Given the description of an element on the screen output the (x, y) to click on. 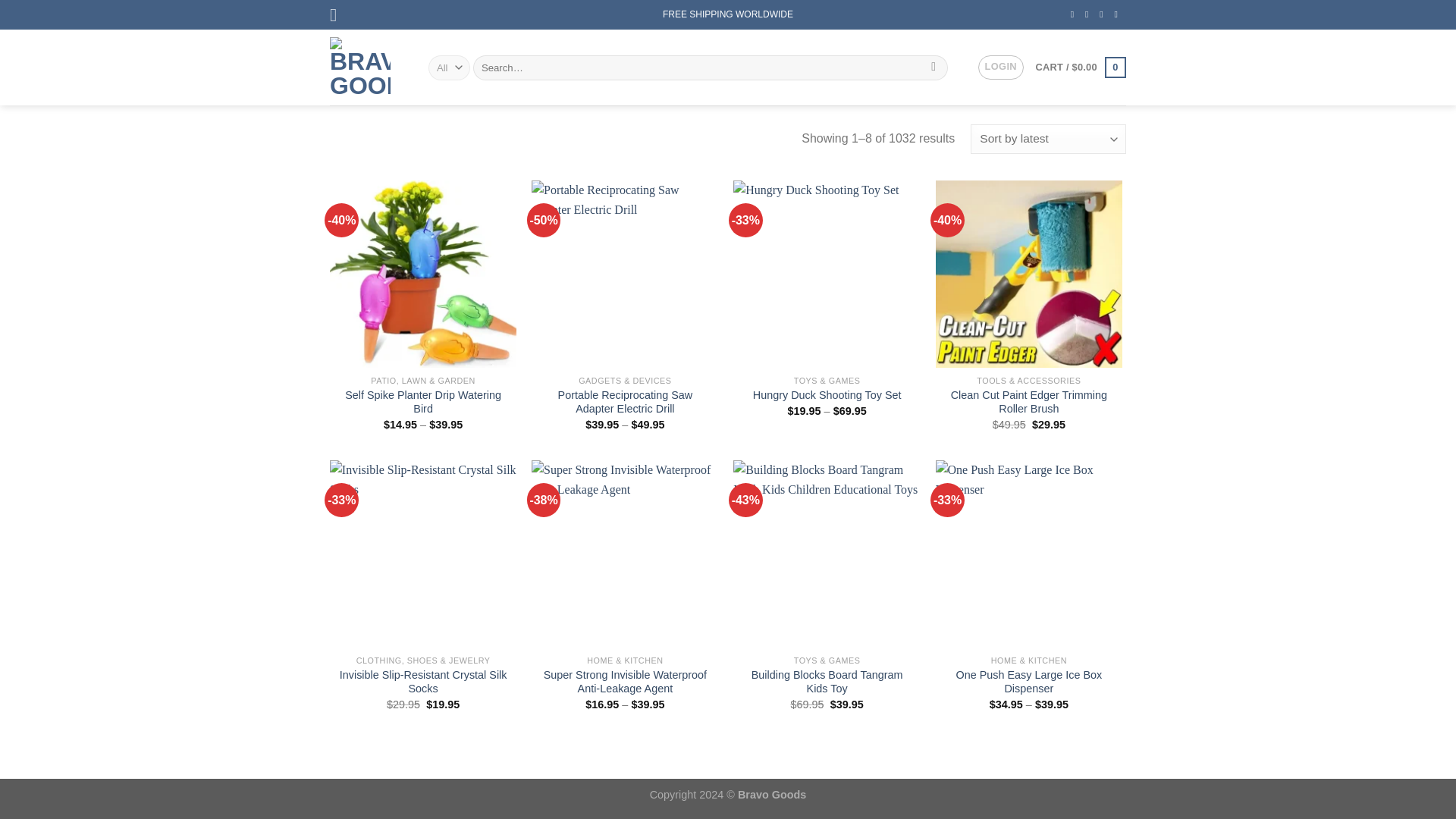
Hungry Duck Shooting Toy Set (826, 395)
Bravo Goods - Make Your Life Easier (368, 67)
Portable Reciprocating Saw Adapter Electric Drill (624, 402)
LOGIN (1000, 67)
Invisible Slip-Resistant Crystal Silk Socks (423, 682)
Search (933, 67)
Clean Cut Paint Edger Trimming Roller Brush (1029, 402)
Cart (1080, 66)
Login (1000, 67)
Self Spike Planter Drip Watering Bird (423, 402)
